Given the description of an element on the screen output the (x, y) to click on. 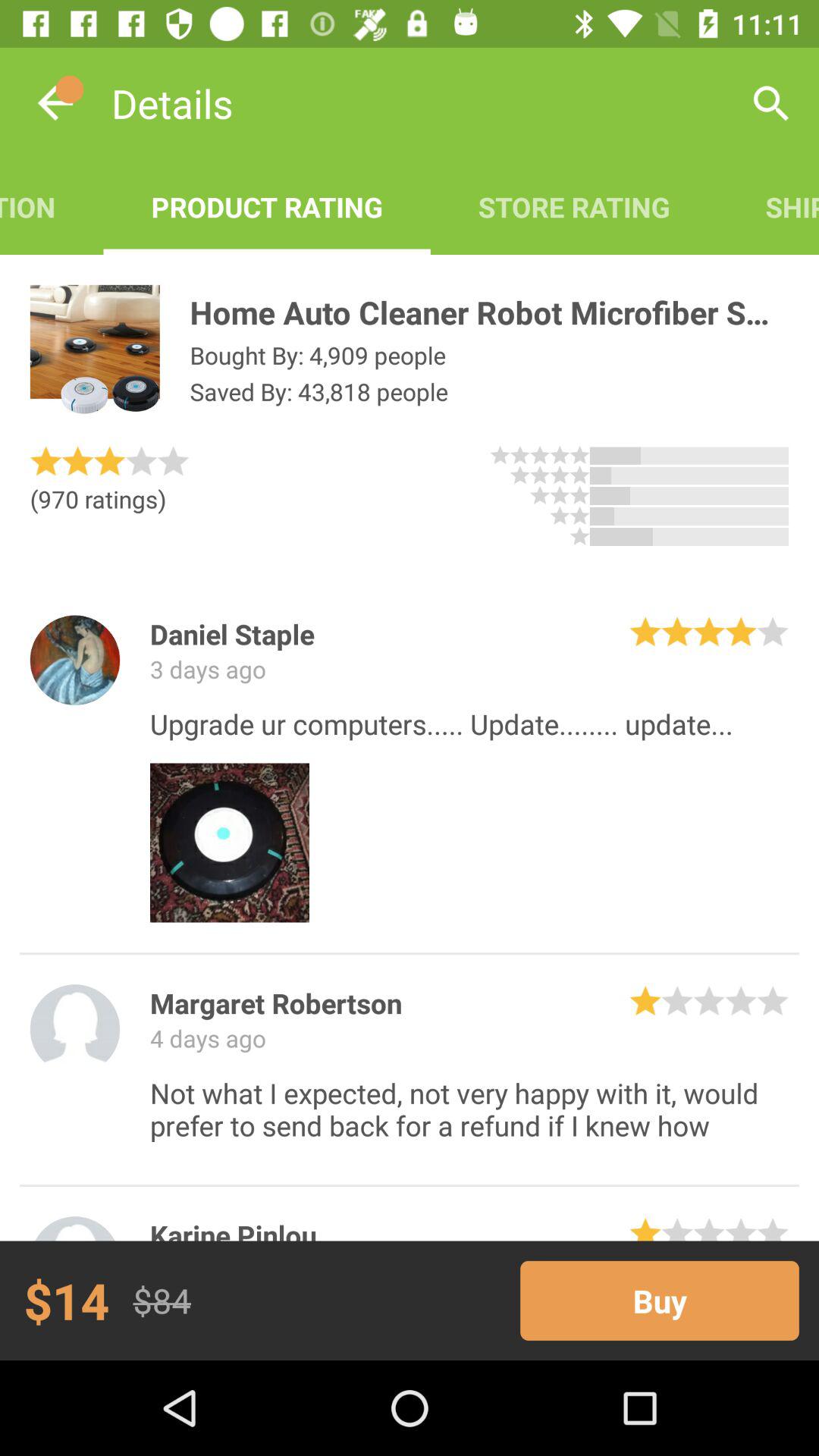
jump until the shipping info icon (768, 206)
